Given the description of an element on the screen output the (x, y) to click on. 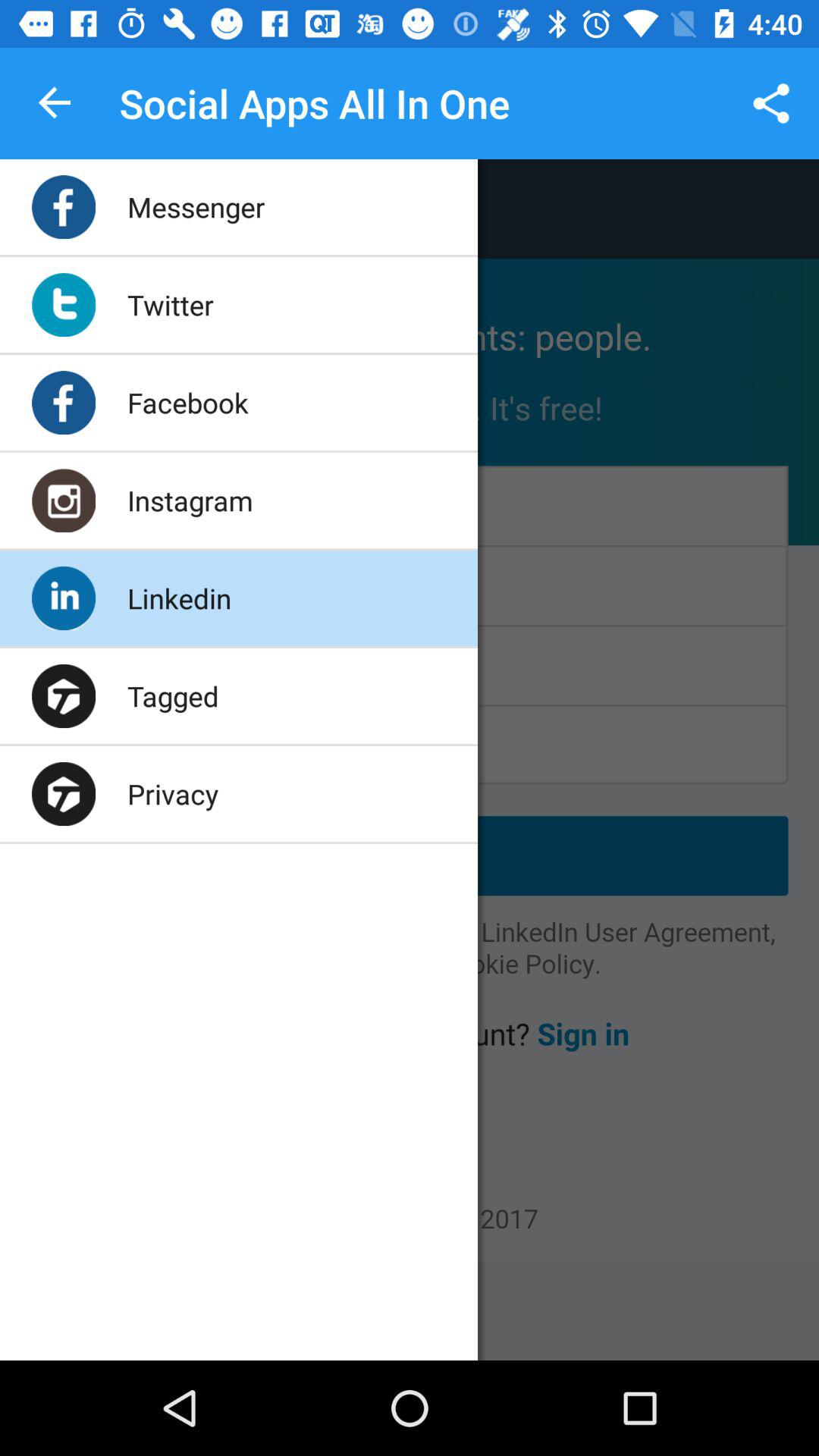
press item next to the social apps all icon (771, 103)
